Given the description of an element on the screen output the (x, y) to click on. 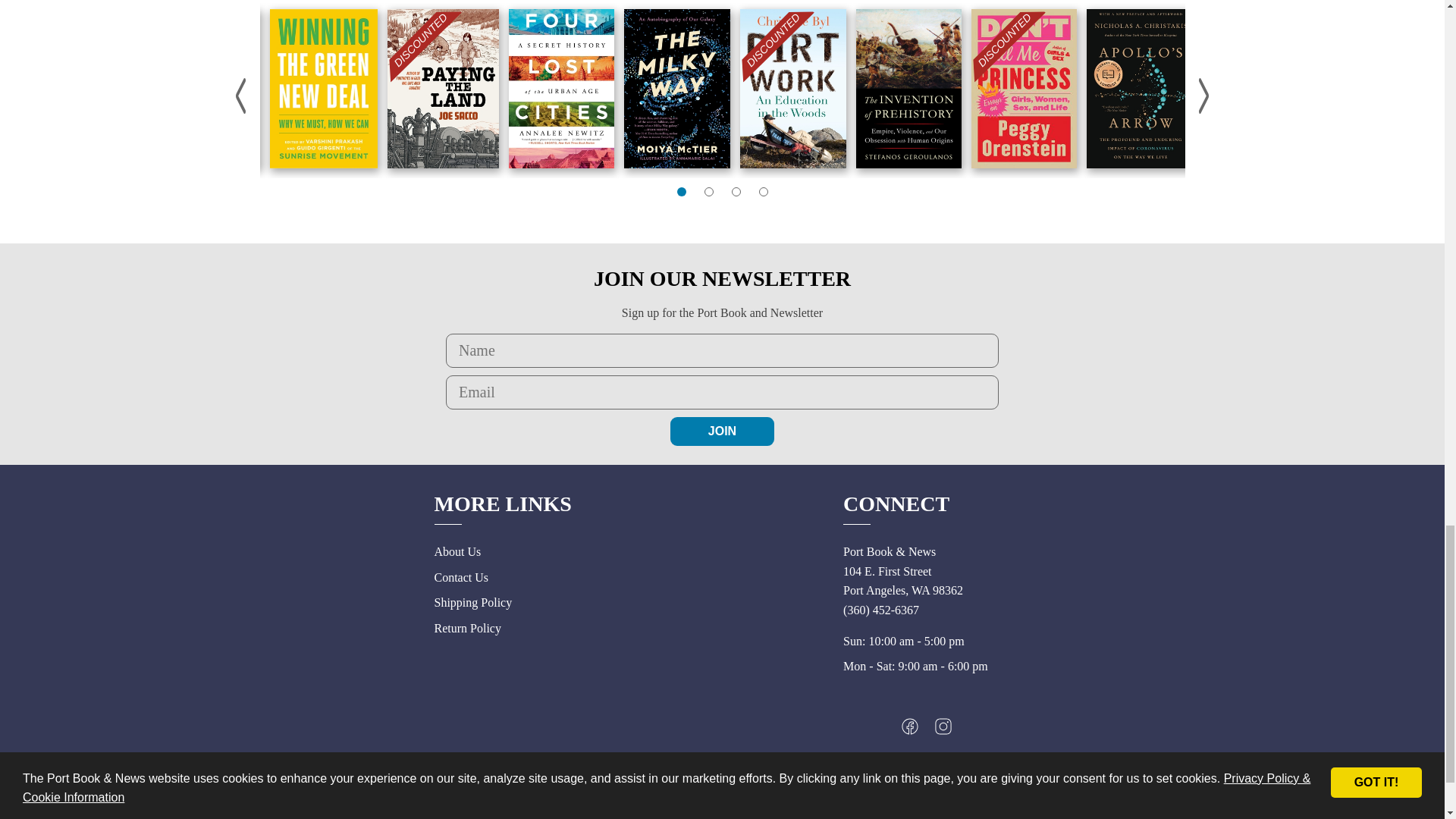
Connect with Facebook (909, 729)
Connect with Instagram (943, 729)
Join (721, 430)
